Given the description of an element on the screen output the (x, y) to click on. 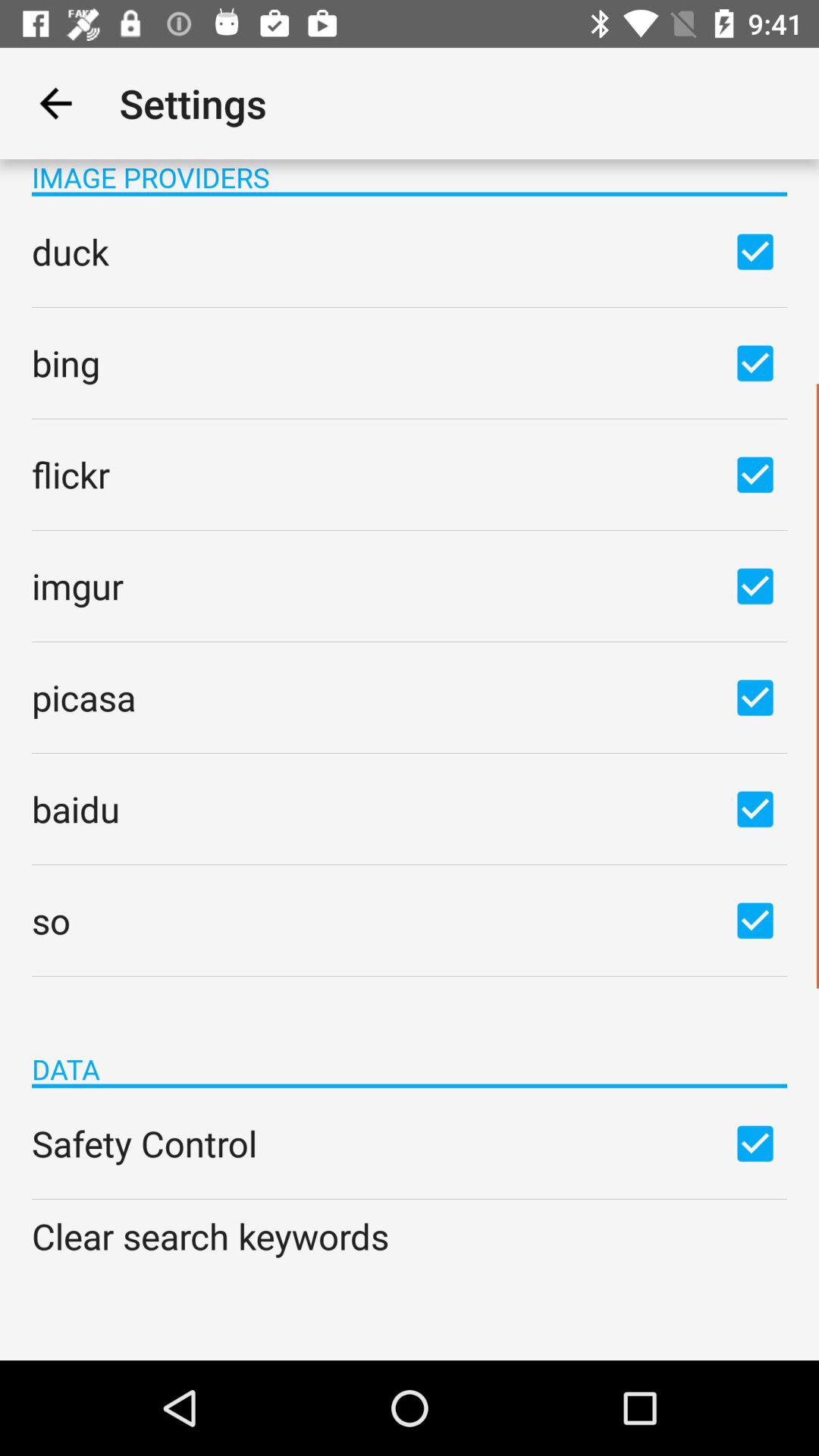
uncheck so (755, 920)
